Given the description of an element on the screen output the (x, y) to click on. 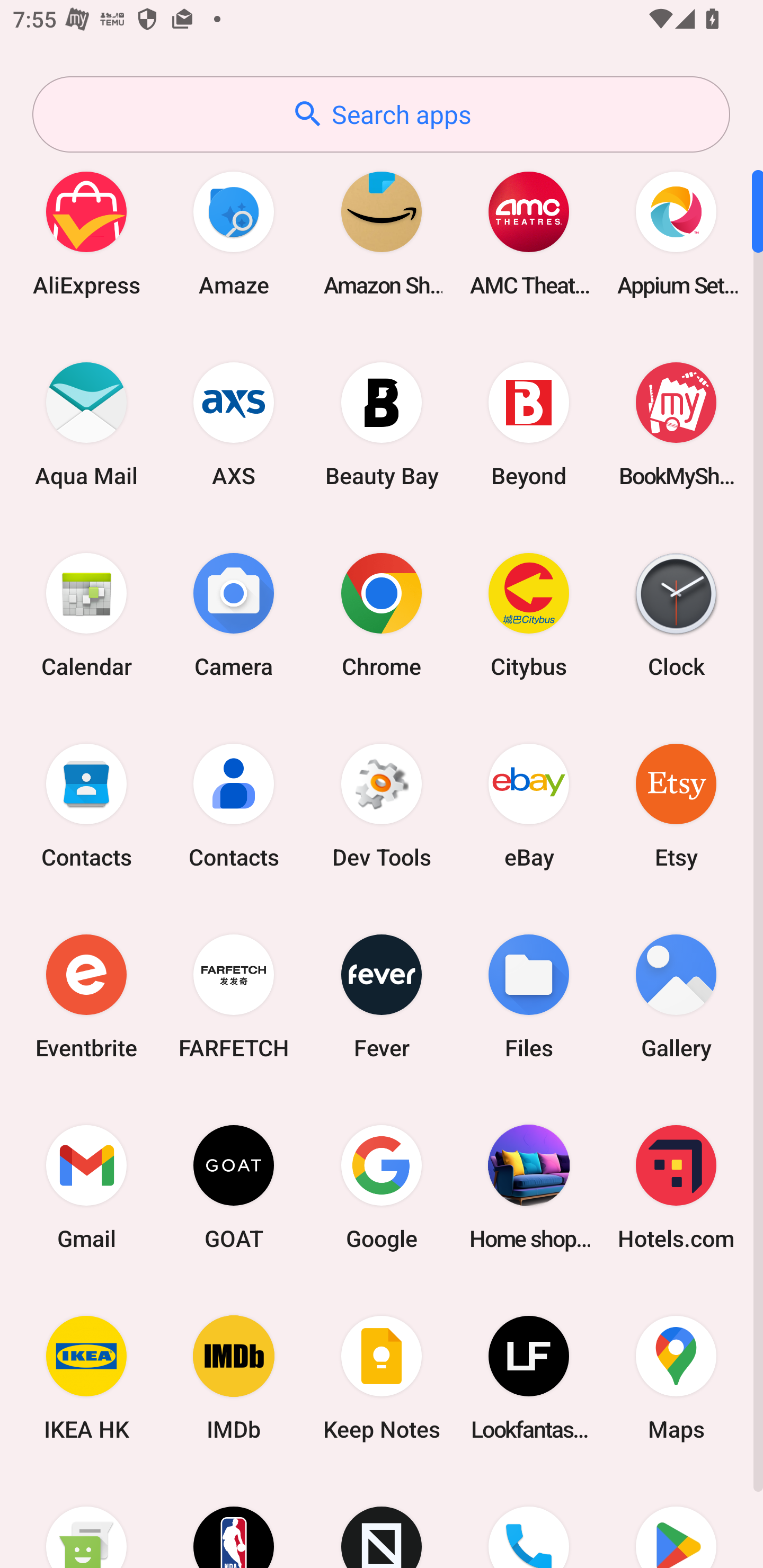
  Search apps (381, 114)
AliExpress (86, 233)
Amaze (233, 233)
Amazon Shopping (381, 233)
AMC Theatres (528, 233)
Appium Settings (676, 233)
Aqua Mail (86, 424)
AXS (233, 424)
Beauty Bay (381, 424)
Beyond (528, 424)
BookMyShow (676, 424)
Calendar (86, 614)
Camera (233, 614)
Chrome (381, 614)
Citybus (528, 614)
Clock (676, 614)
Contacts (86, 805)
Contacts (233, 805)
Dev Tools (381, 805)
eBay (528, 805)
Etsy (676, 805)
Eventbrite (86, 996)
FARFETCH (233, 996)
Fever (381, 996)
Files (528, 996)
Gallery (676, 996)
Gmail (86, 1186)
GOAT (233, 1186)
Google (381, 1186)
Home shopping (528, 1186)
Hotels.com (676, 1186)
IKEA HK (86, 1377)
IMDb (233, 1377)
Keep Notes (381, 1377)
Lookfantastic (528, 1377)
Maps (676, 1377)
Messaging (86, 1520)
NBA (233, 1520)
Novelship (381, 1520)
Phone (528, 1520)
Play Store (676, 1520)
